Given the description of an element on the screen output the (x, y) to click on. 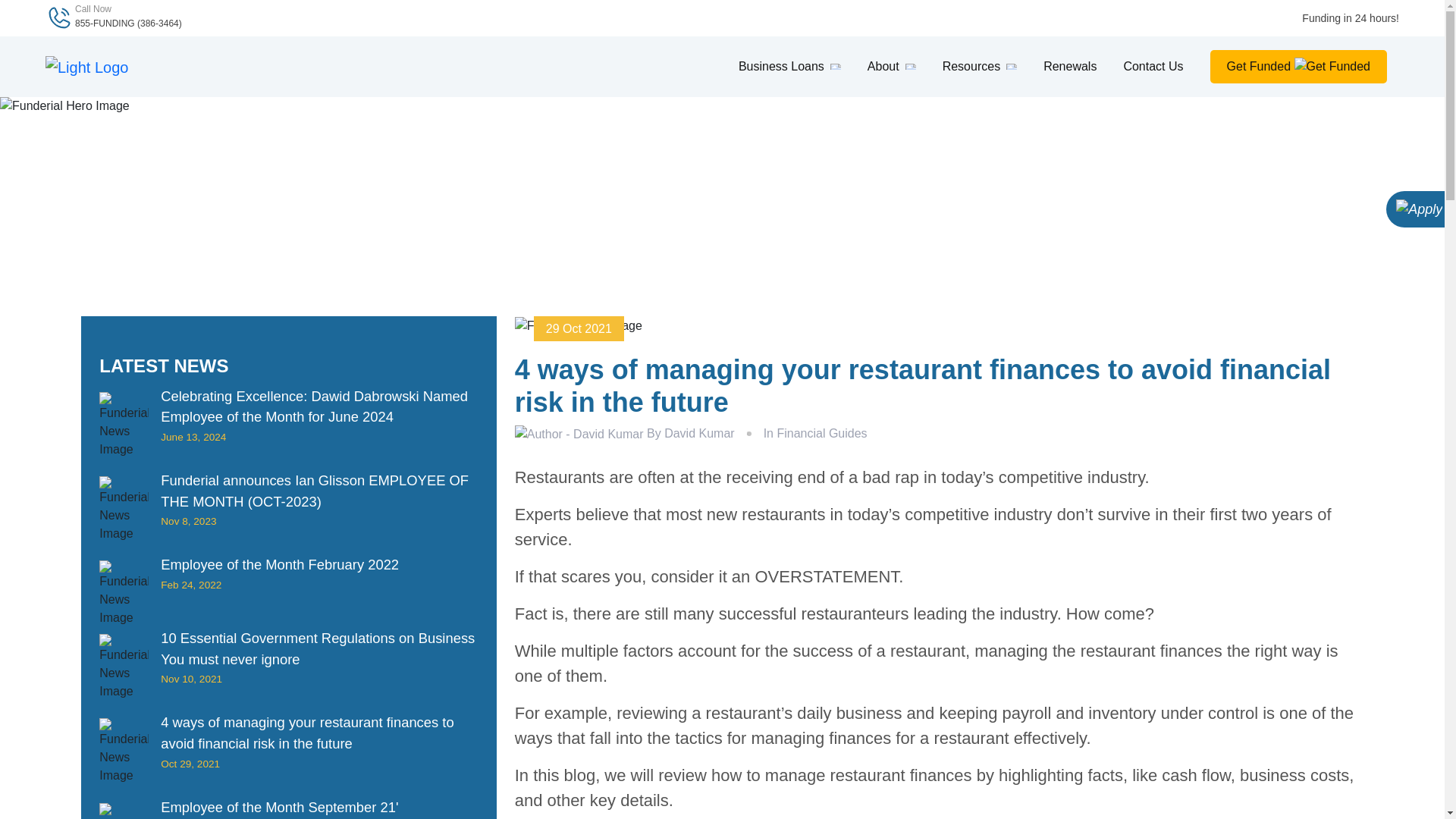
Resources (979, 66)
Contact Us (1152, 66)
Renewals (1069, 66)
Get Funded (1298, 66)
Business Loans (789, 66)
About (891, 66)
